Given the description of an element on the screen output the (x, y) to click on. 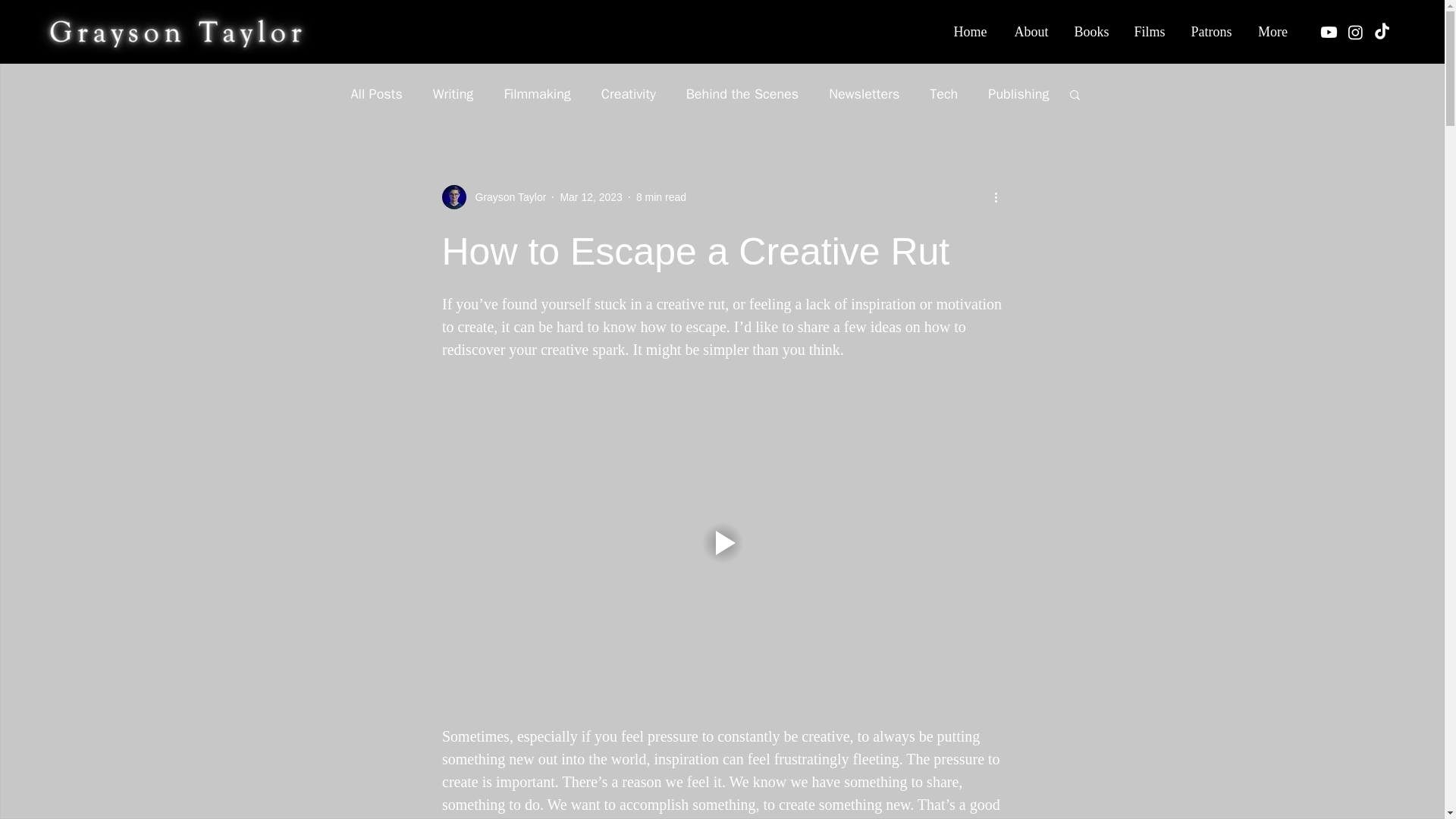
Writing (453, 94)
8 min read (660, 196)
Creativity (628, 94)
Grayson Taylor (493, 197)
Mar 12, 2023 (591, 196)
All Posts (375, 94)
Home (970, 32)
Filmmaking (536, 94)
About (1031, 32)
Patrons (1210, 32)
